Given the description of an element on the screen output the (x, y) to click on. 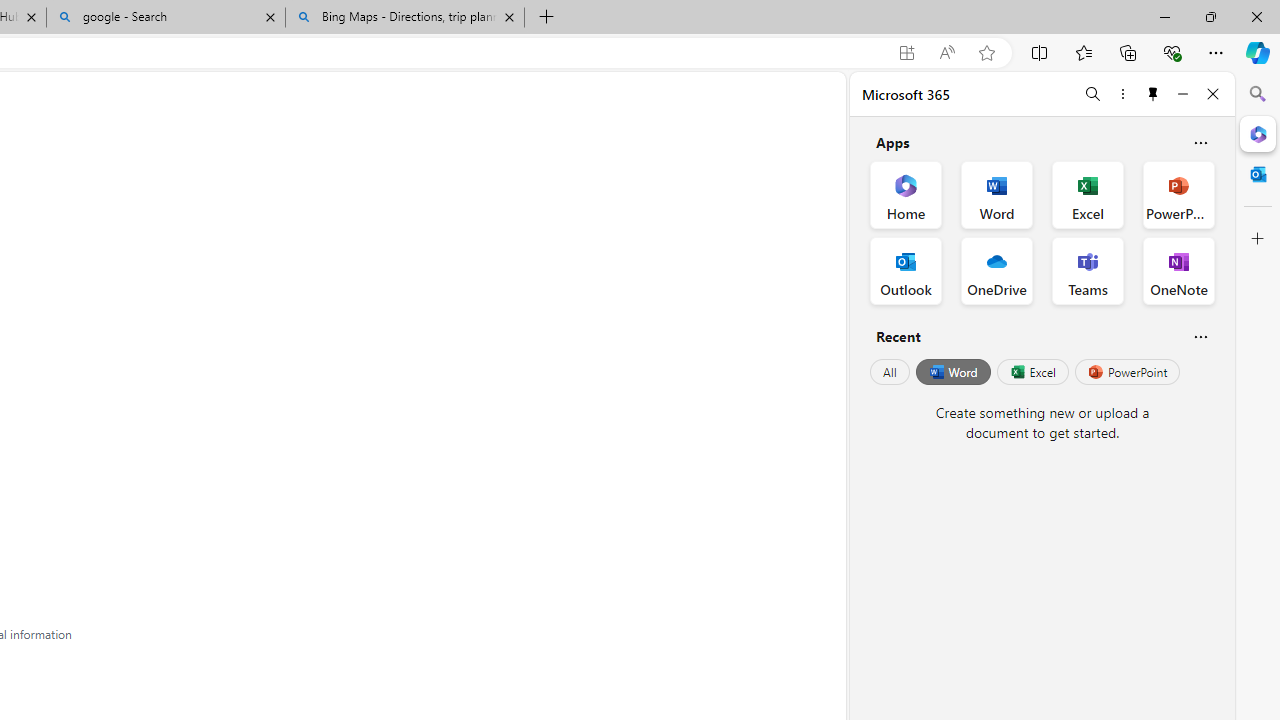
Outlook Office App (906, 270)
Teams Office App (1087, 270)
Microsoft 365 (1258, 133)
Home Office App (906, 194)
PowerPoint (1127, 372)
